Given the description of an element on the screen output the (x, y) to click on. 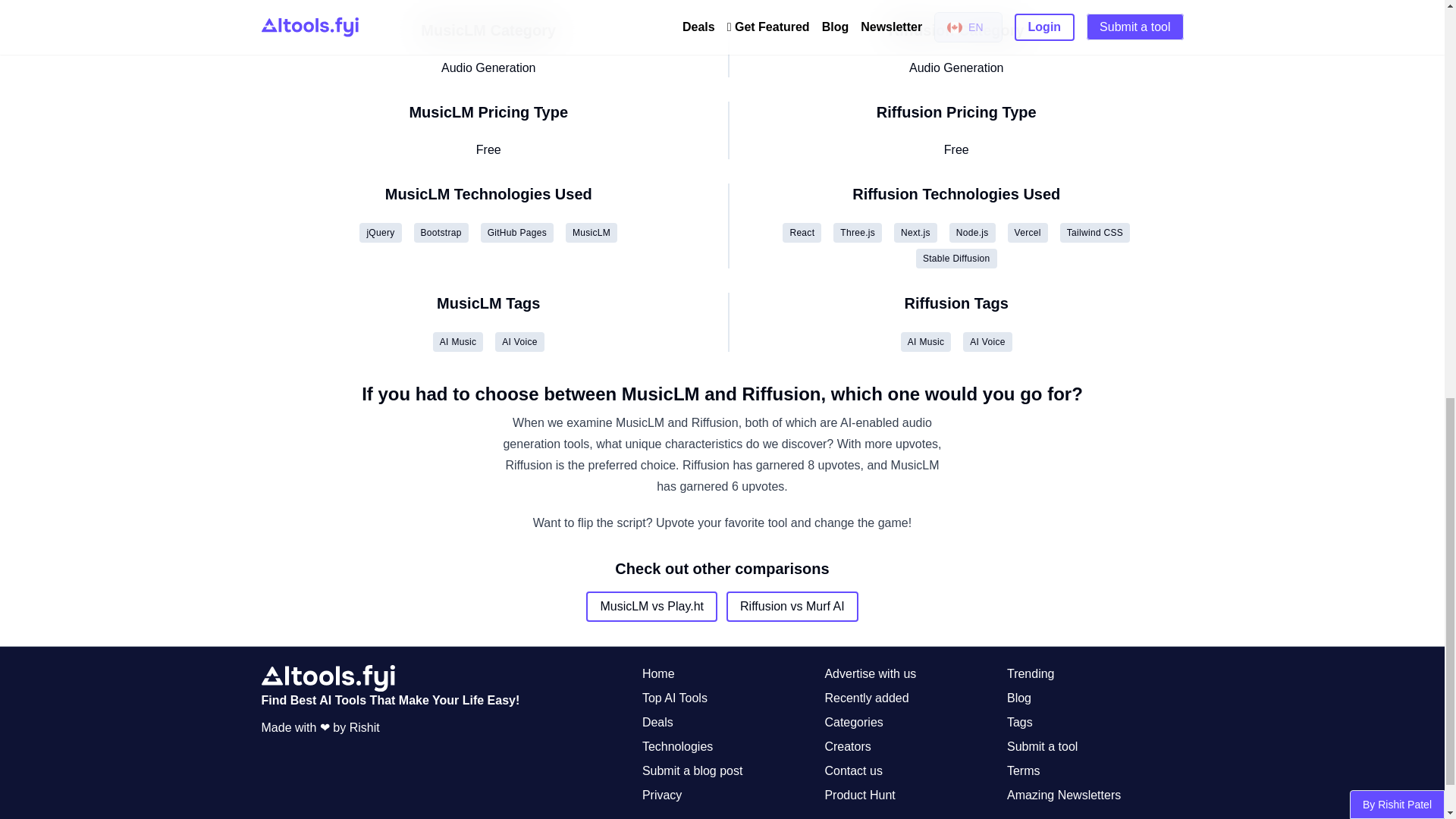
Recently added (866, 698)
MusicLM vs Play.ht (651, 606)
Categories (853, 722)
Tags (1019, 722)
Blog (1018, 698)
Deals (657, 722)
Riffusion vs Murf AI (792, 606)
Advertise with us (869, 674)
Top AI Tools (674, 698)
Trending (1030, 674)
Home (658, 674)
Rishit (364, 727)
